Given the description of an element on the screen output the (x, y) to click on. 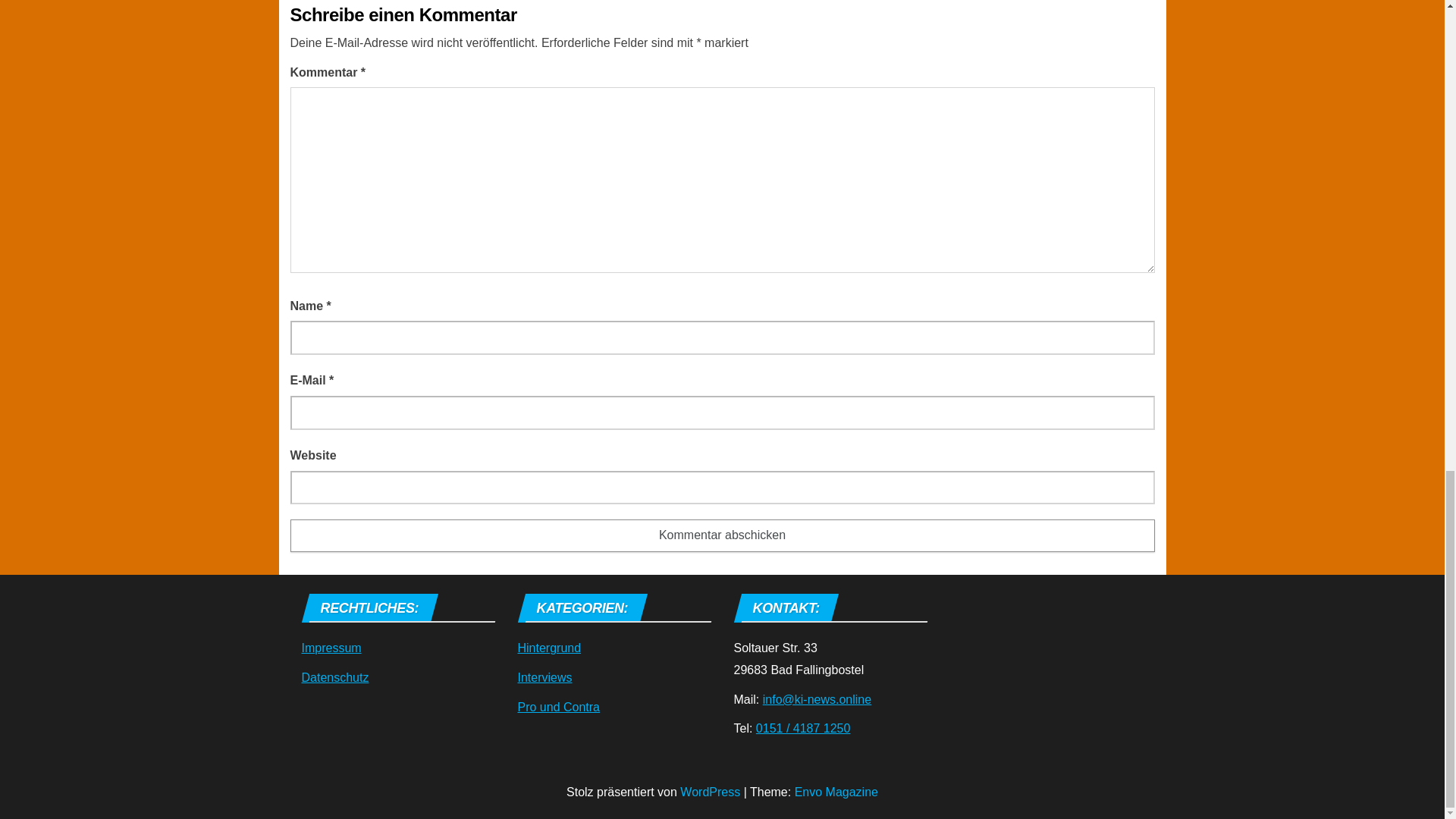
Kommentar abschicken (721, 535)
Pro und Contra (557, 707)
Kommentar abschicken (721, 535)
Envo Magazine (835, 791)
Datenschutz (335, 676)
Interviews (544, 676)
Impressum (331, 647)
Hintergrund (548, 647)
WordPress (709, 791)
